Given the description of an element on the screen output the (x, y) to click on. 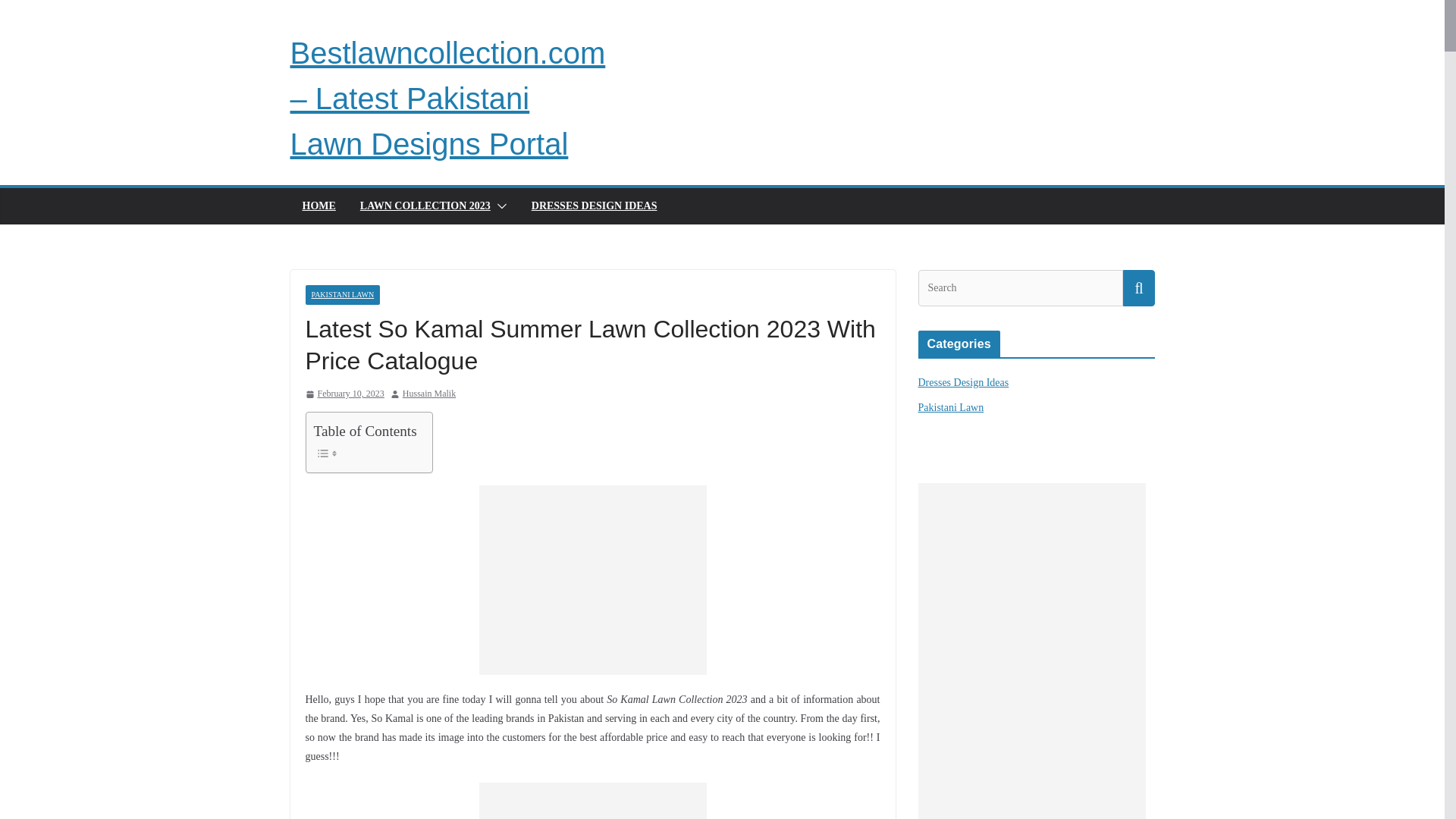
February 10, 2023 (344, 393)
HOME (317, 206)
Dresses Design Ideas (963, 382)
11:55 am (344, 393)
Advertisement (592, 800)
DRESSES DESIGN IDEAS (594, 206)
Hussain Malik (429, 393)
PAKISTANI LAWN (342, 294)
Advertisement (592, 579)
Pakistani Lawn (950, 407)
LAWN COLLECTION 2023 (424, 206)
Hussain Malik (429, 393)
